Given the description of an element on the screen output the (x, y) to click on. 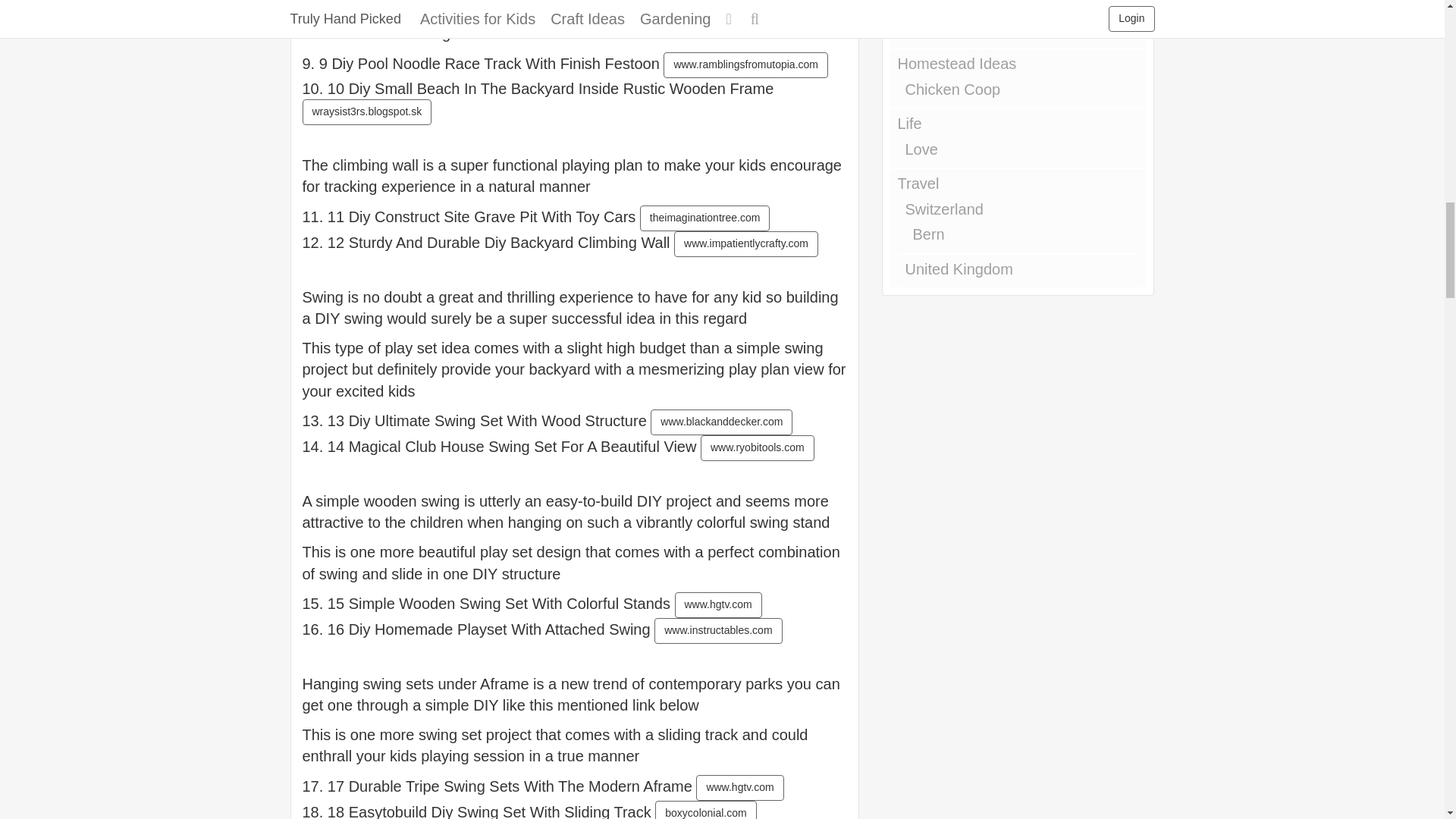
www.impatientlycrafty.com (746, 243)
theimaginationtree.com (705, 217)
www.ramblingsfromutopia.com (745, 64)
www.blackanddecker.com (721, 421)
wraysist3rs.blogspot.sk (365, 112)
